Given the description of an element on the screen output the (x, y) to click on. 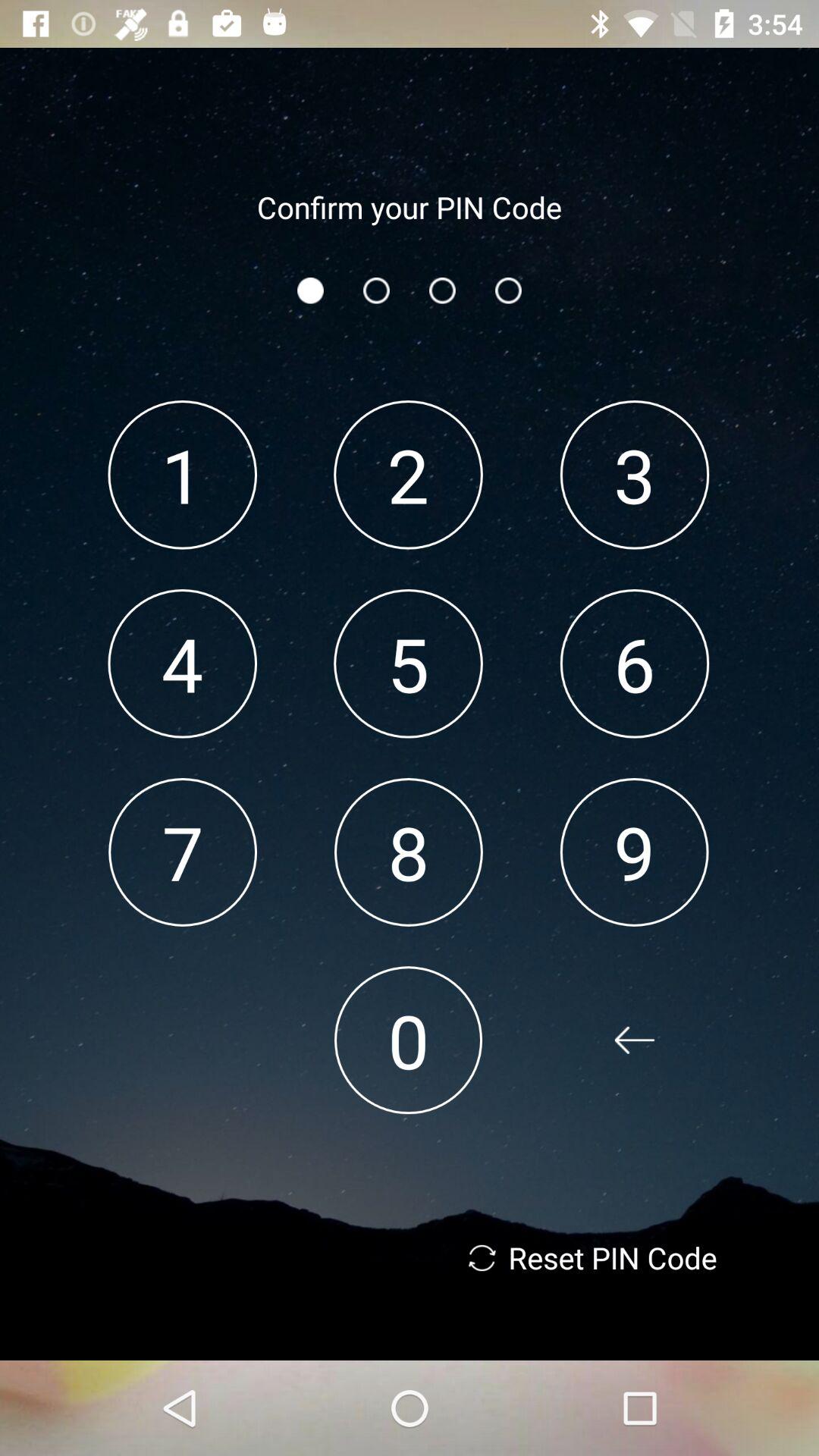
scroll until the 6 app (634, 663)
